Given the description of an element on the screen output the (x, y) to click on. 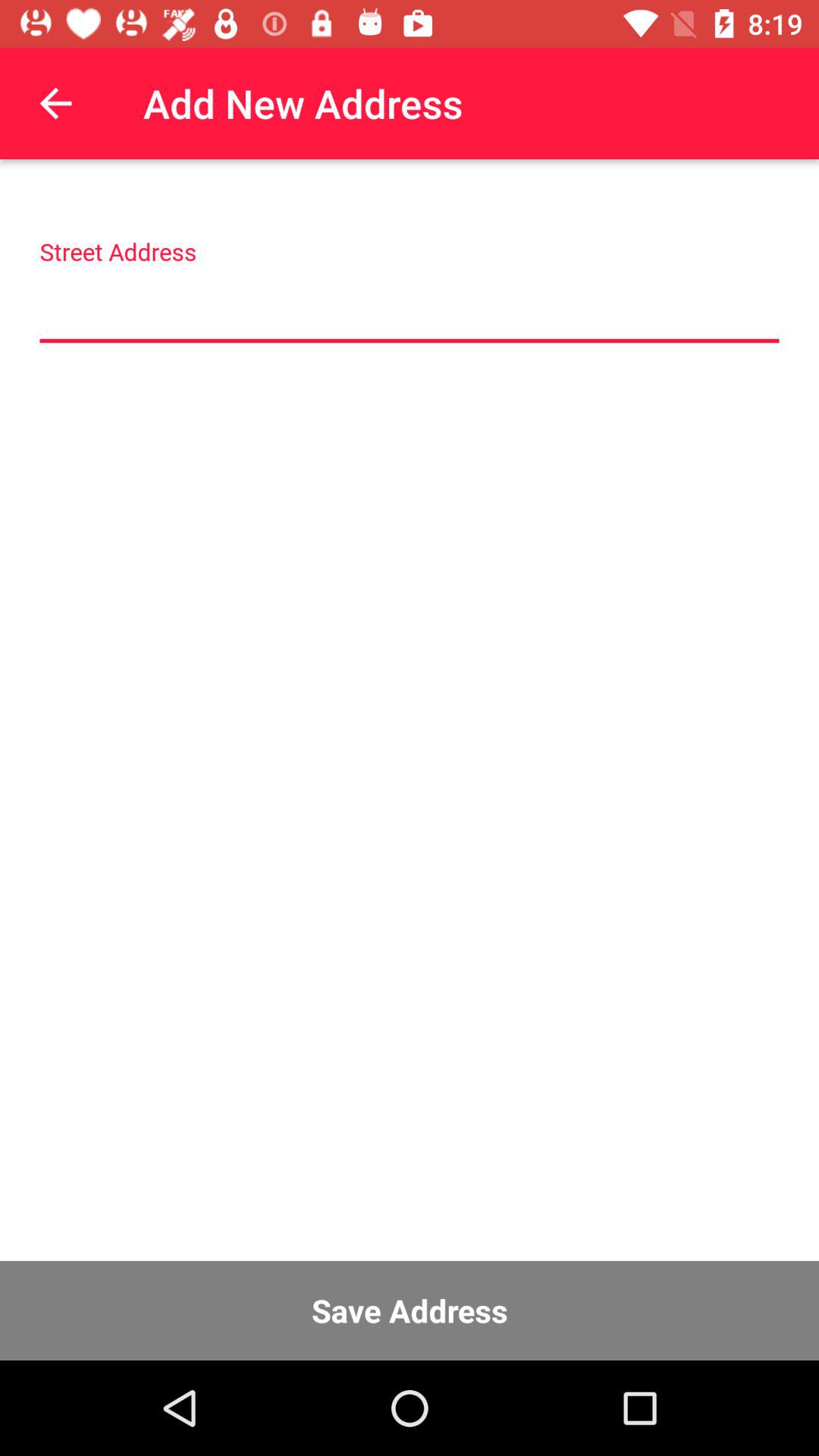
enter street address (409, 308)
